Given the description of an element on the screen output the (x, y) to click on. 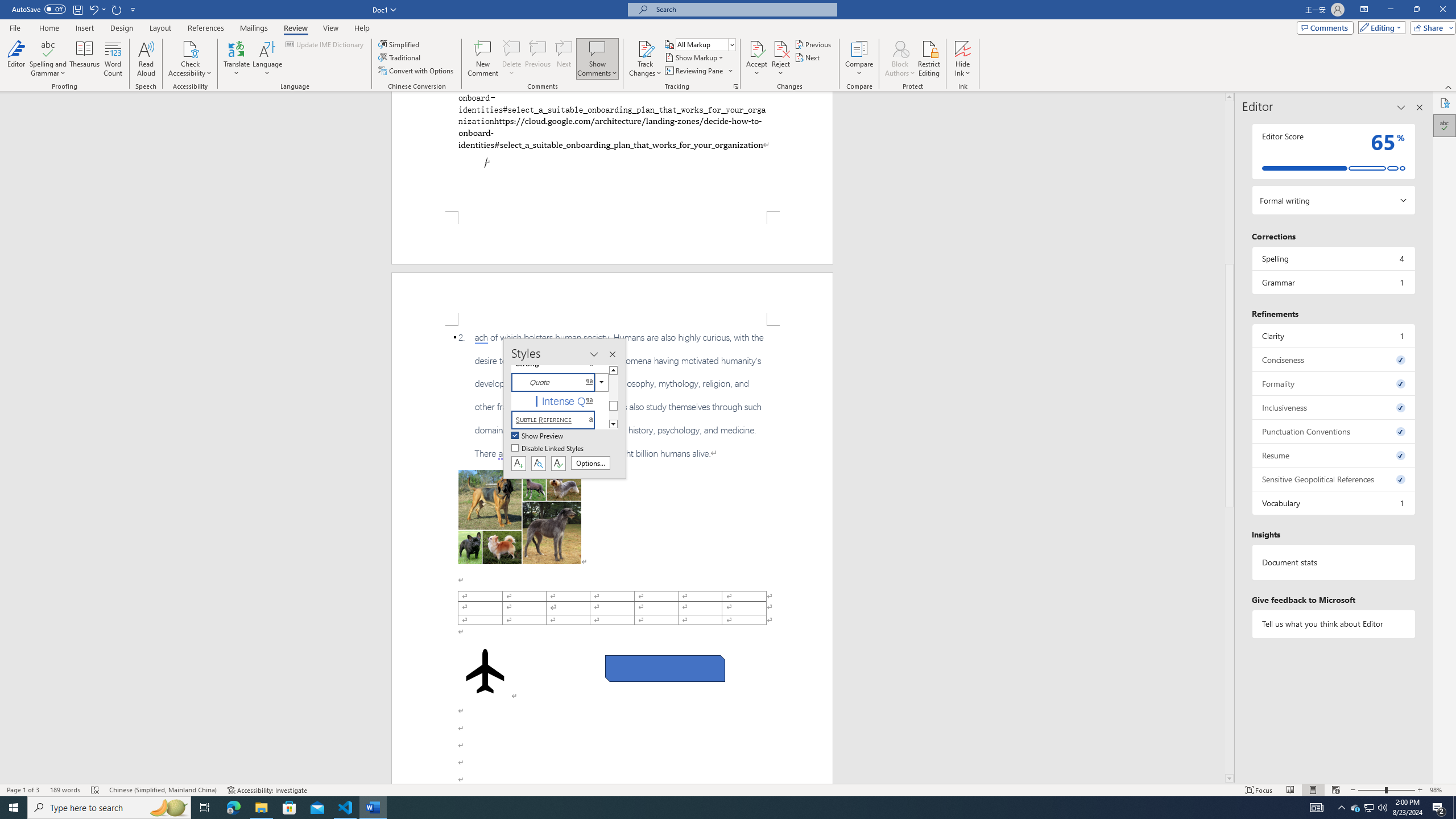
Editing (1379, 27)
Zoom (1386, 790)
Reject (780, 58)
Check Accessibility (189, 58)
Accessibility (1444, 102)
Disable Linked Styles (548, 448)
Microsoft search (742, 9)
Options... (590, 463)
Repeat Style (117, 9)
Quote (559, 382)
